Given the description of an element on the screen output the (x, y) to click on. 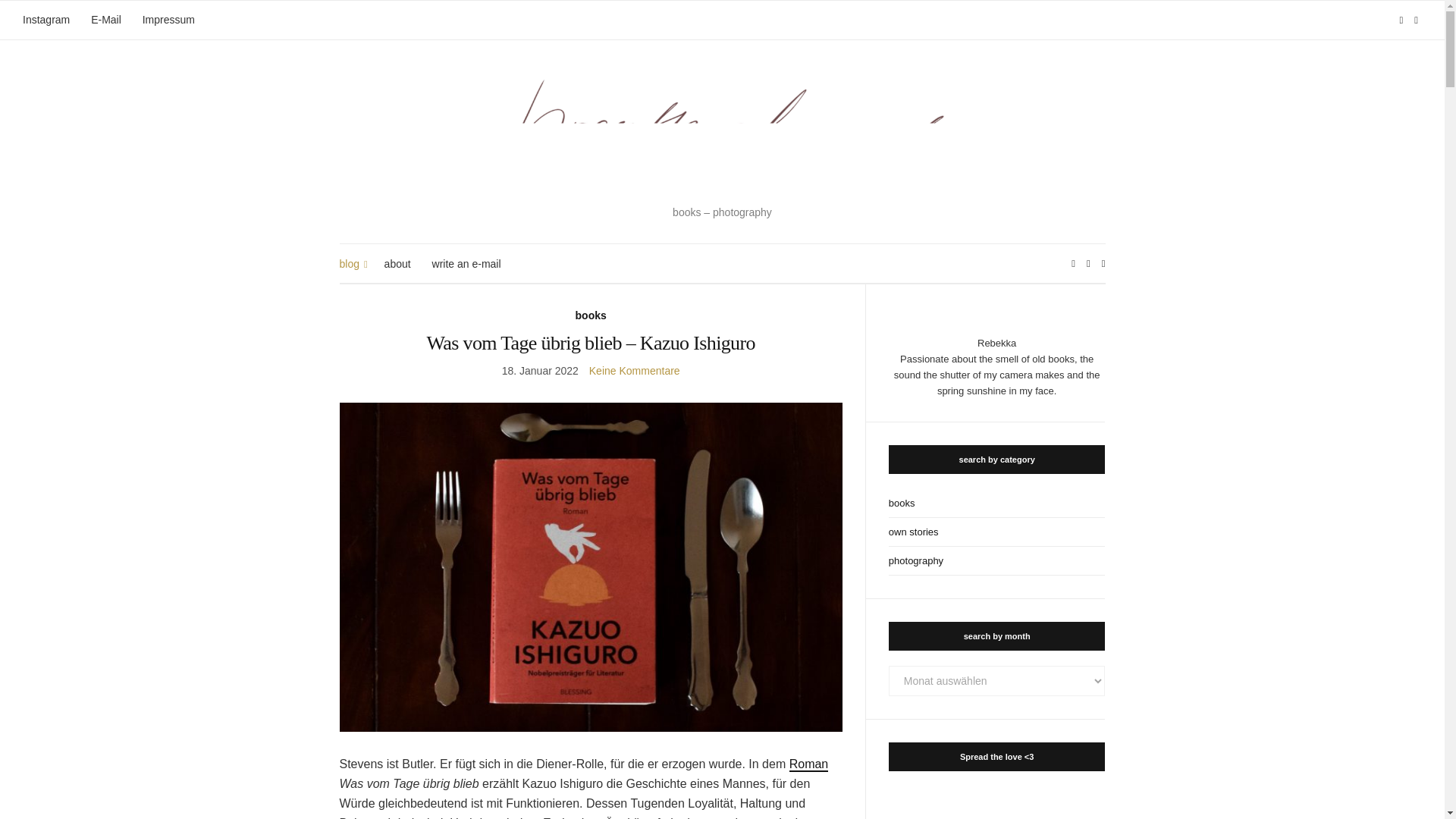
blog (350, 263)
about (397, 263)
Instagram (46, 19)
books (591, 315)
E-Mail (105, 19)
write an e-mail (466, 263)
Roman (808, 764)
Impressum (168, 19)
Keine Kommentare (634, 370)
